Given the description of an element on the screen output the (x, y) to click on. 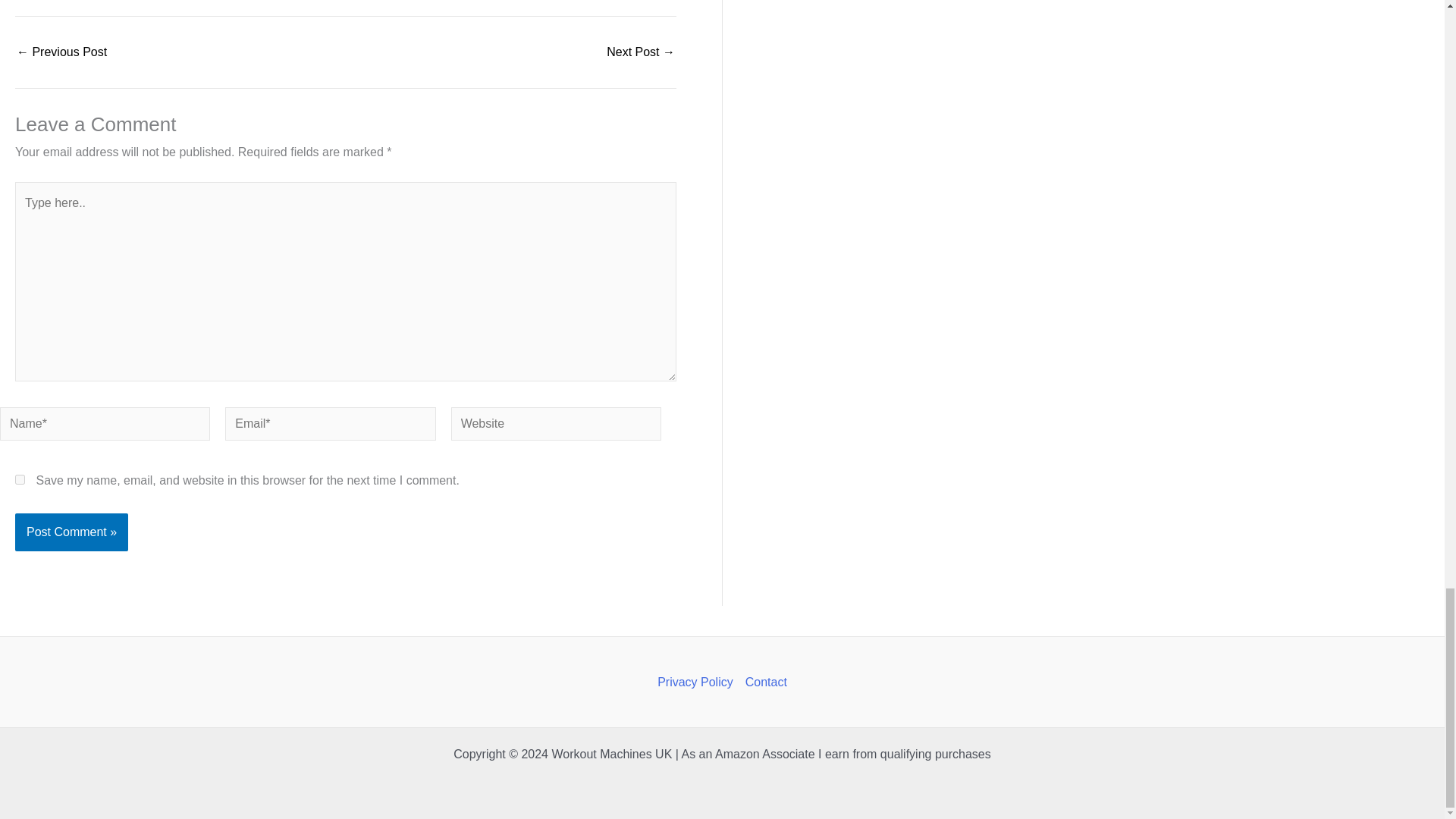
How To Choose The Right Diet Plan To Achieve Your Goals (641, 51)
yes (19, 479)
Superfoods To Speed Up Your Weight Loss (61, 51)
Contact (763, 681)
Privacy Policy (698, 681)
